Given the description of an element on the screen output the (x, y) to click on. 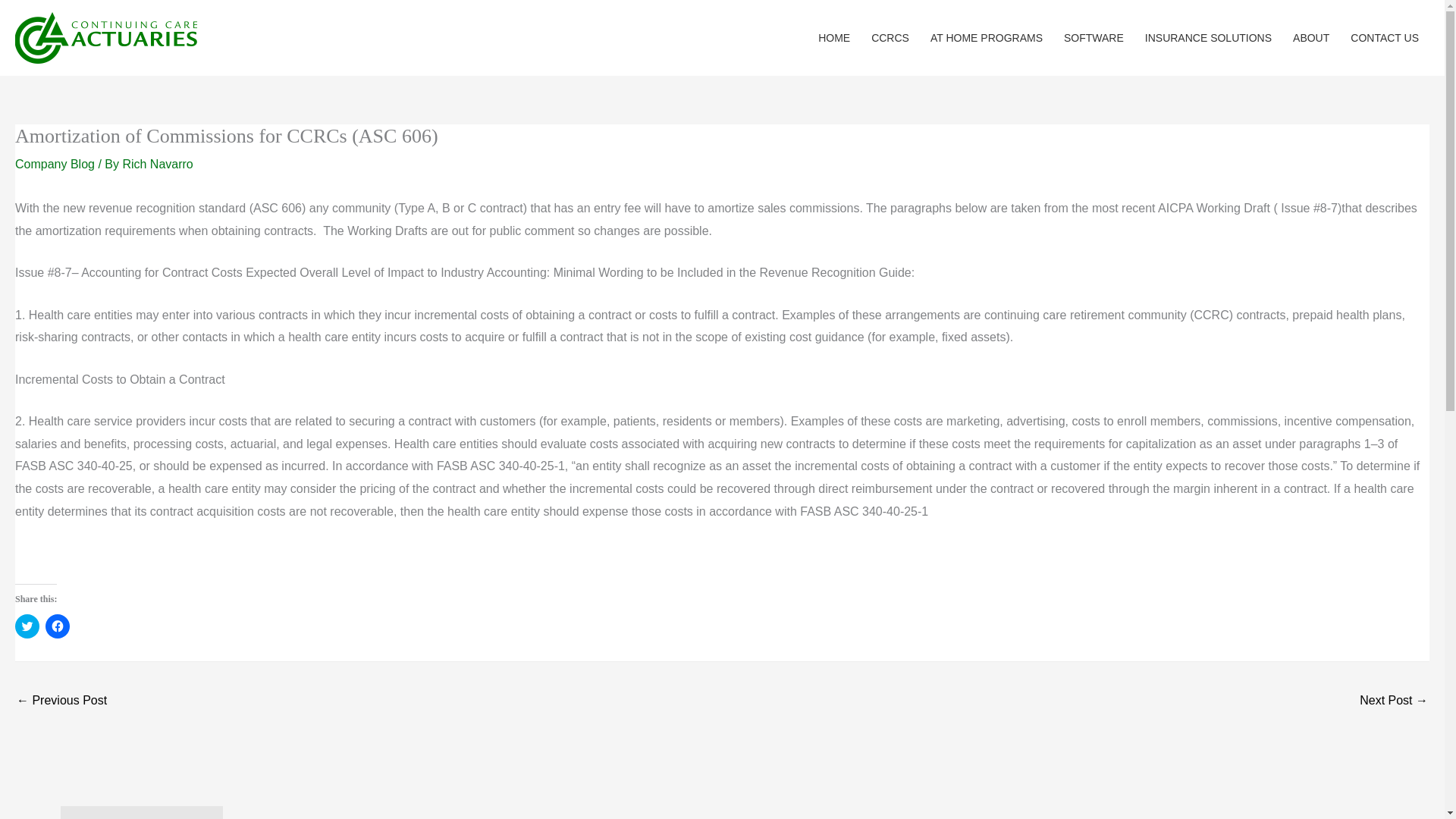
Click to share on Facebook (57, 626)
View all posts by Rich Navarro (157, 164)
AT HOME PROGRAMS (986, 38)
Click to share on Twitter (26, 626)
SOFTWARE (1093, 38)
NEED HELP WITH THE QUALIFICATION OF PROSPECTIVE RESIDENTS? (1393, 701)
INSURANCE SOLUTIONS (1208, 38)
